Given the description of an element on the screen output the (x, y) to click on. 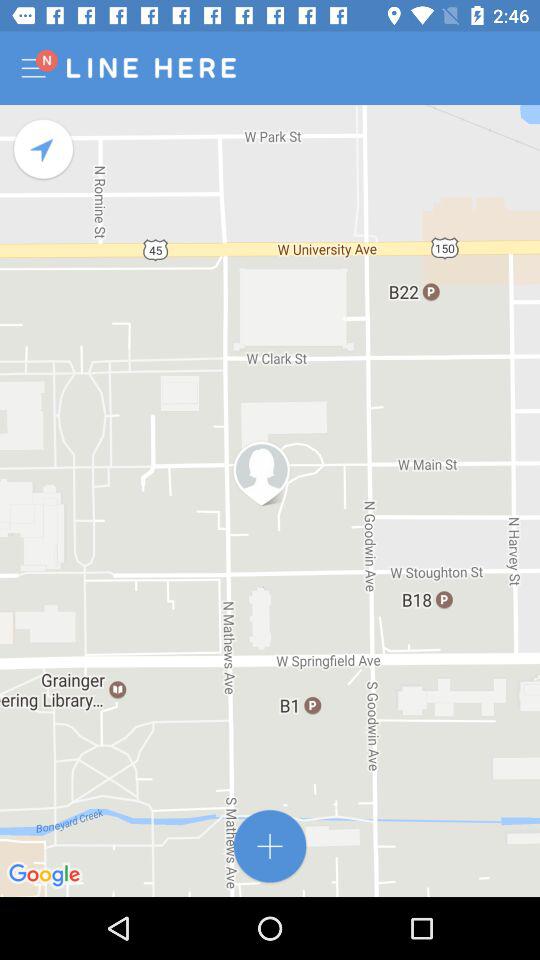
add a location (269, 846)
